Given the description of an element on the screen output the (x, y) to click on. 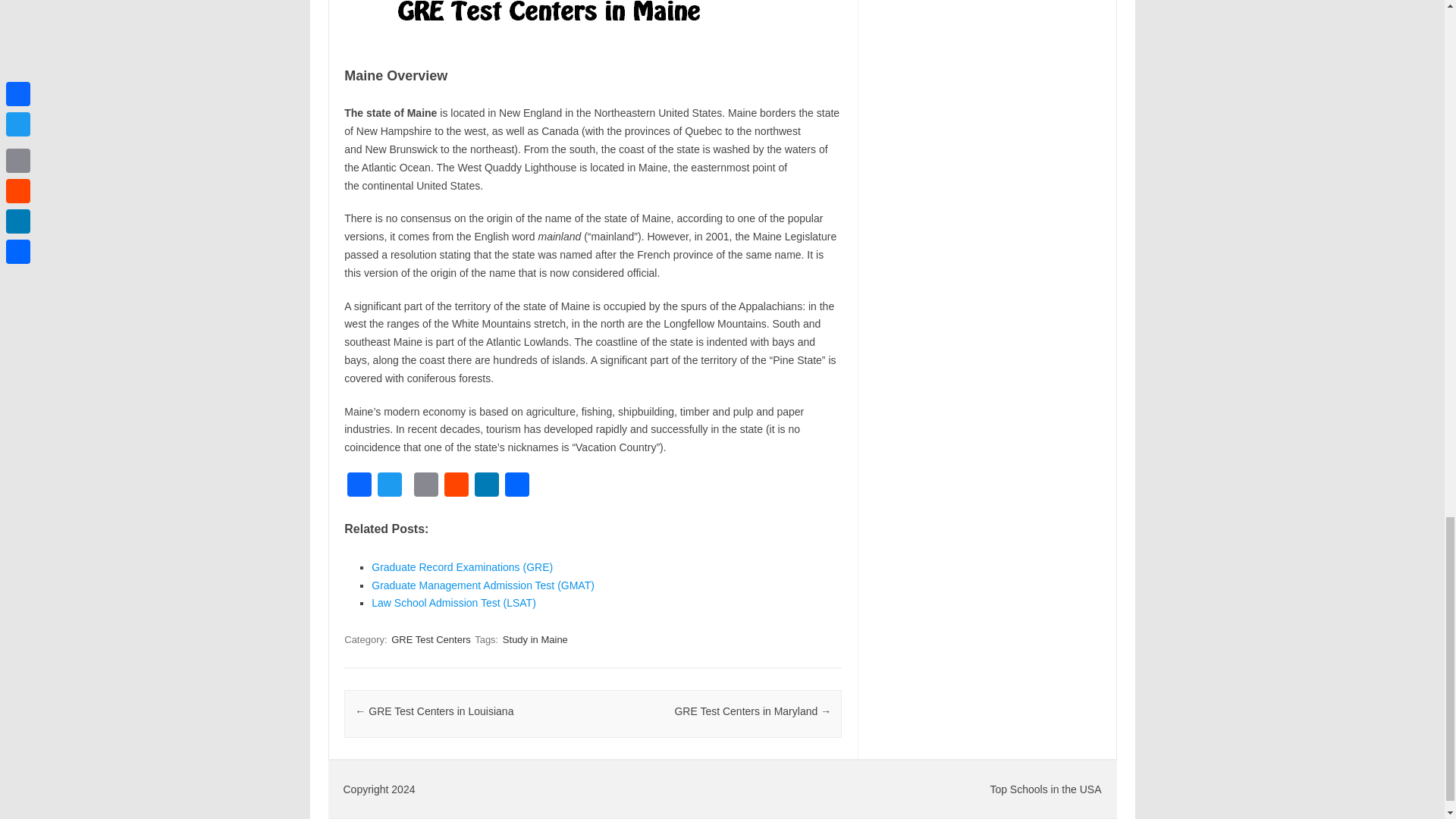
Twitter (389, 486)
LinkedIn (486, 486)
Email (425, 486)
Facebook (358, 486)
Facebook (358, 486)
Study in Maine (534, 639)
LinkedIn (486, 486)
Twitter (389, 486)
GRE Test Centers (430, 639)
Share (517, 486)
Email (425, 486)
Reddit (456, 486)
Reddit (456, 486)
